Given the description of an element on the screen output the (x, y) to click on. 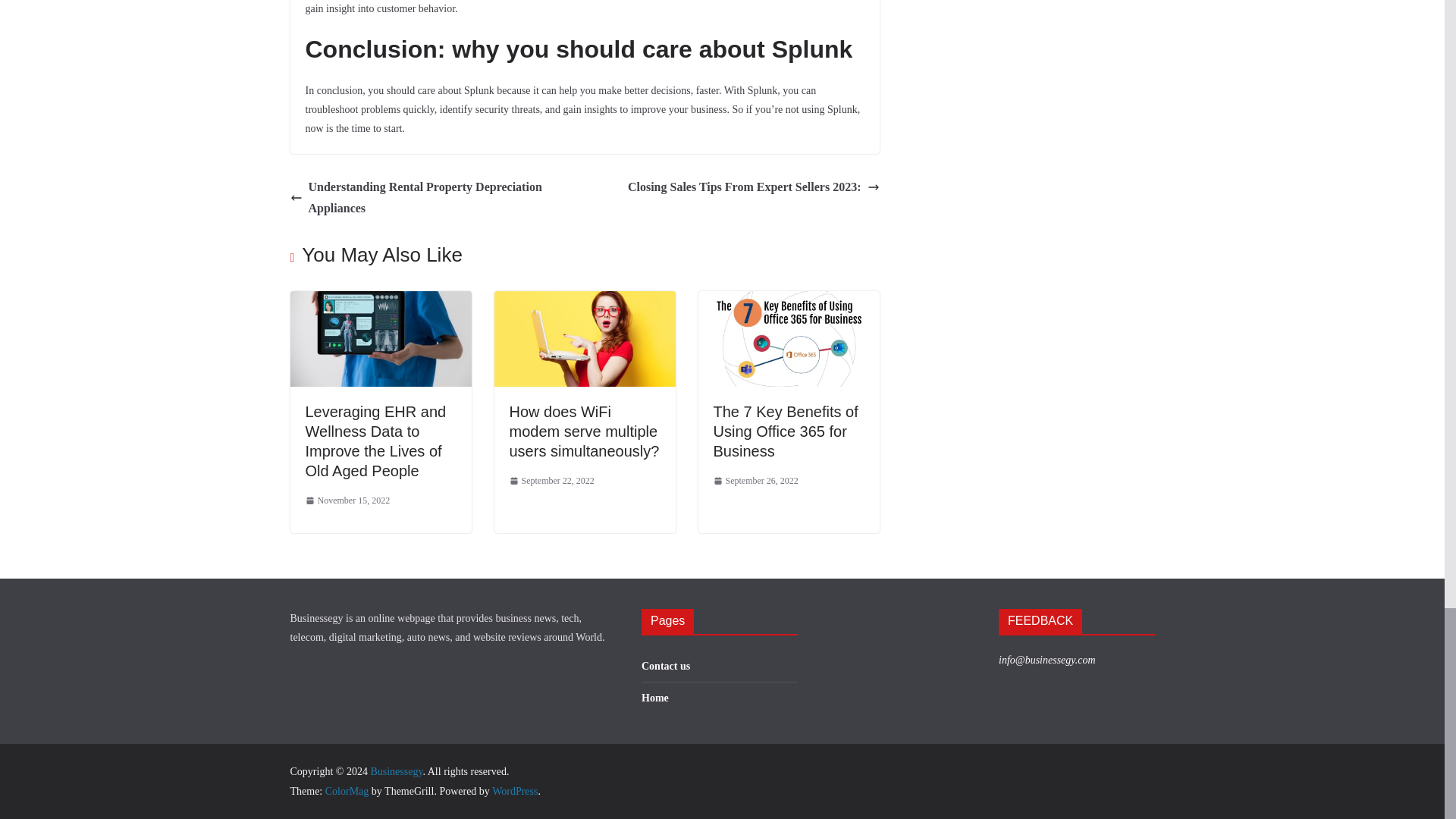
How does WiFi modem serve multiple users simultaneously? (584, 431)
September 22, 2022 (551, 481)
9:44 am (347, 501)
September 26, 2022 (755, 481)
The 7 Key Benefits of Using Office 365 for Business (785, 431)
Understanding Rental Property Depreciation Appliances (432, 198)
Closing Sales Tips From Expert Sellers 2023: (753, 187)
November 15, 2022 (347, 501)
